Given the description of an element on the screen output the (x, y) to click on. 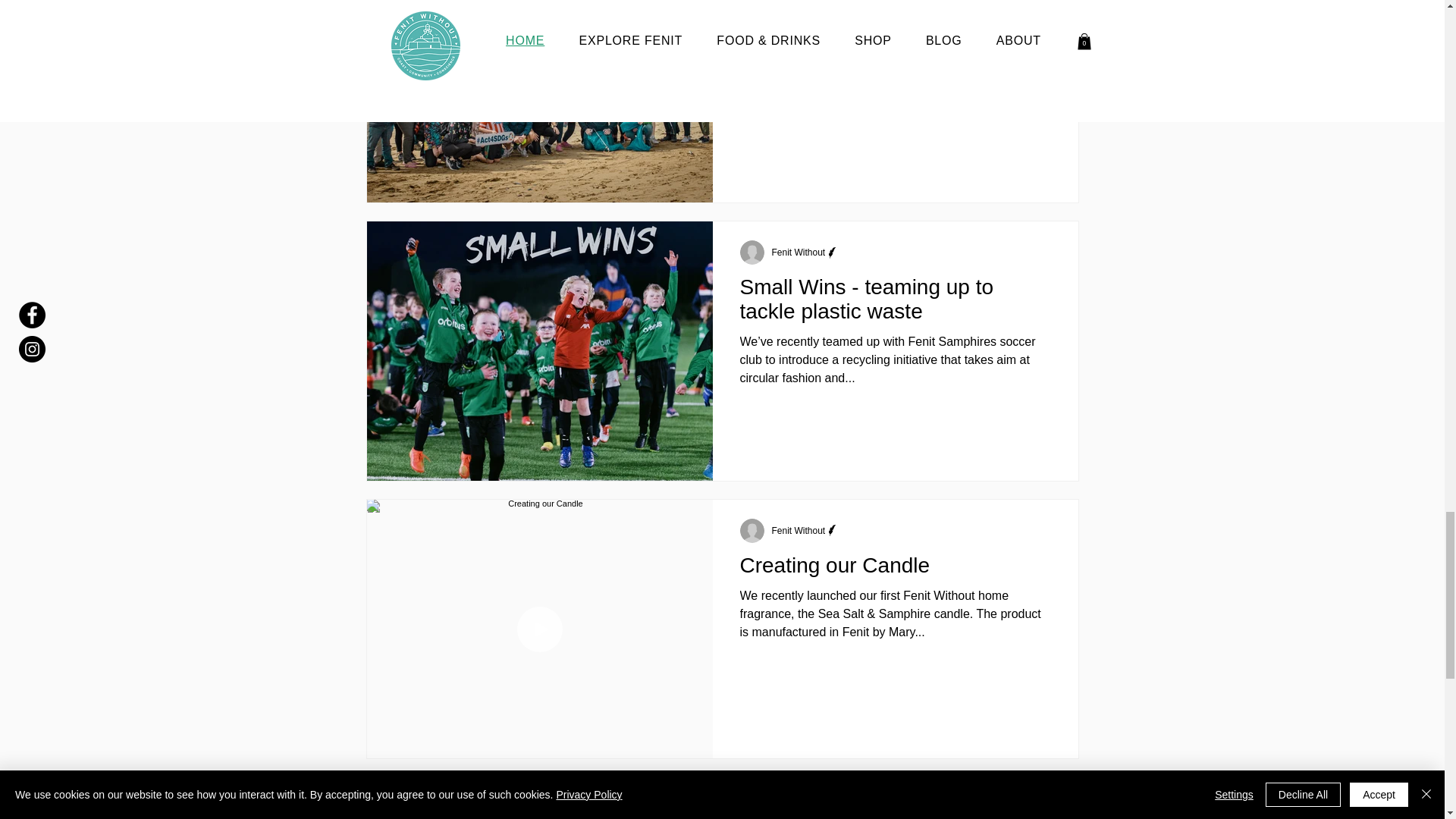
Fenit Without (798, 252)
Fenit Without (798, 530)
